Given the description of an element on the screen output the (x, y) to click on. 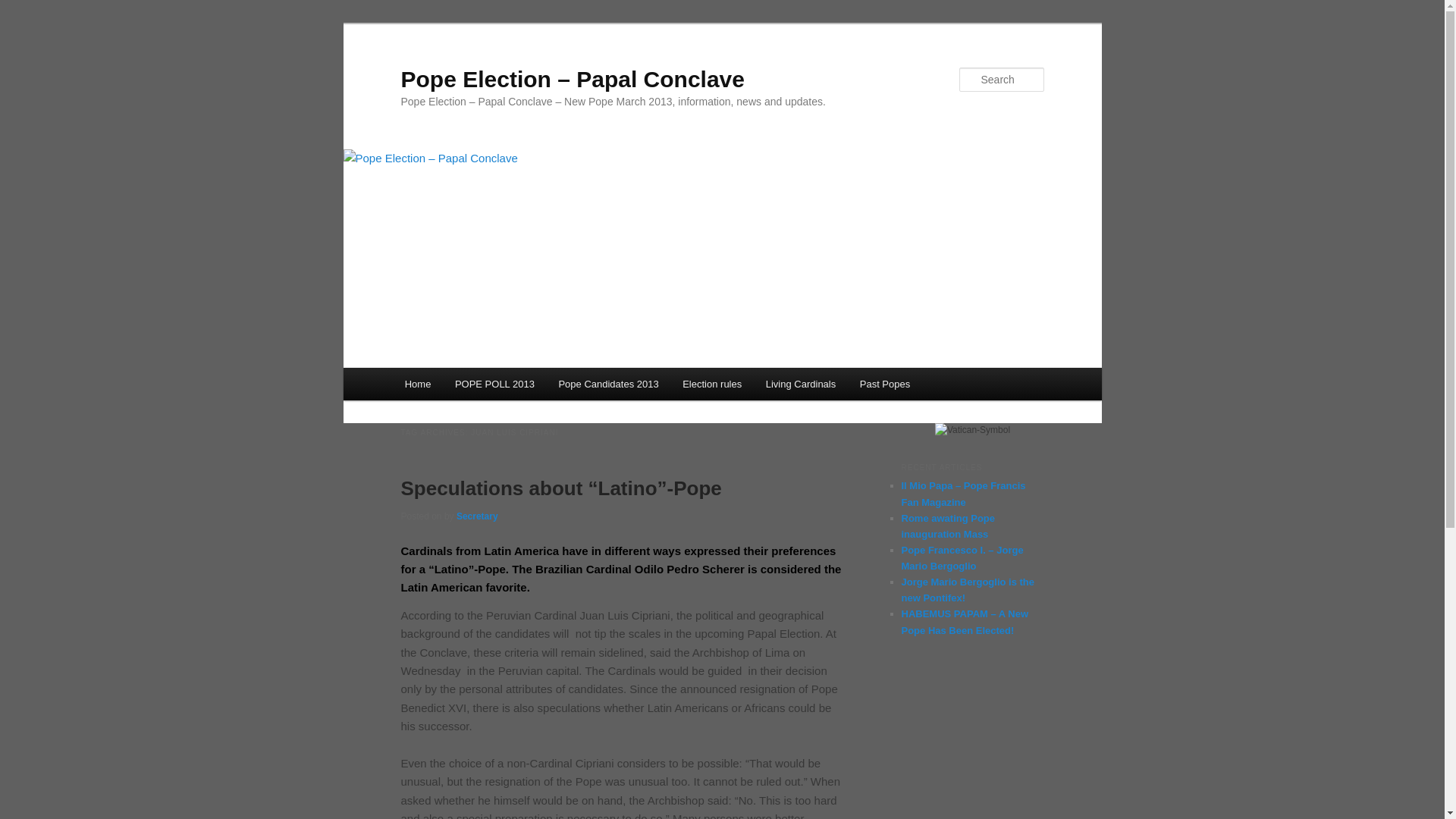
Pope Candidates 2013 (609, 383)
Living Cardinals (800, 383)
Past Popes (884, 383)
Vatican-Symbol (972, 430)
POPE POLL 2013 (494, 383)
Election rules (711, 383)
Home (417, 383)
Secretary (477, 516)
View all posts by Secretary (477, 516)
Search (24, 8)
